Given the description of an element on the screen output the (x, y) to click on. 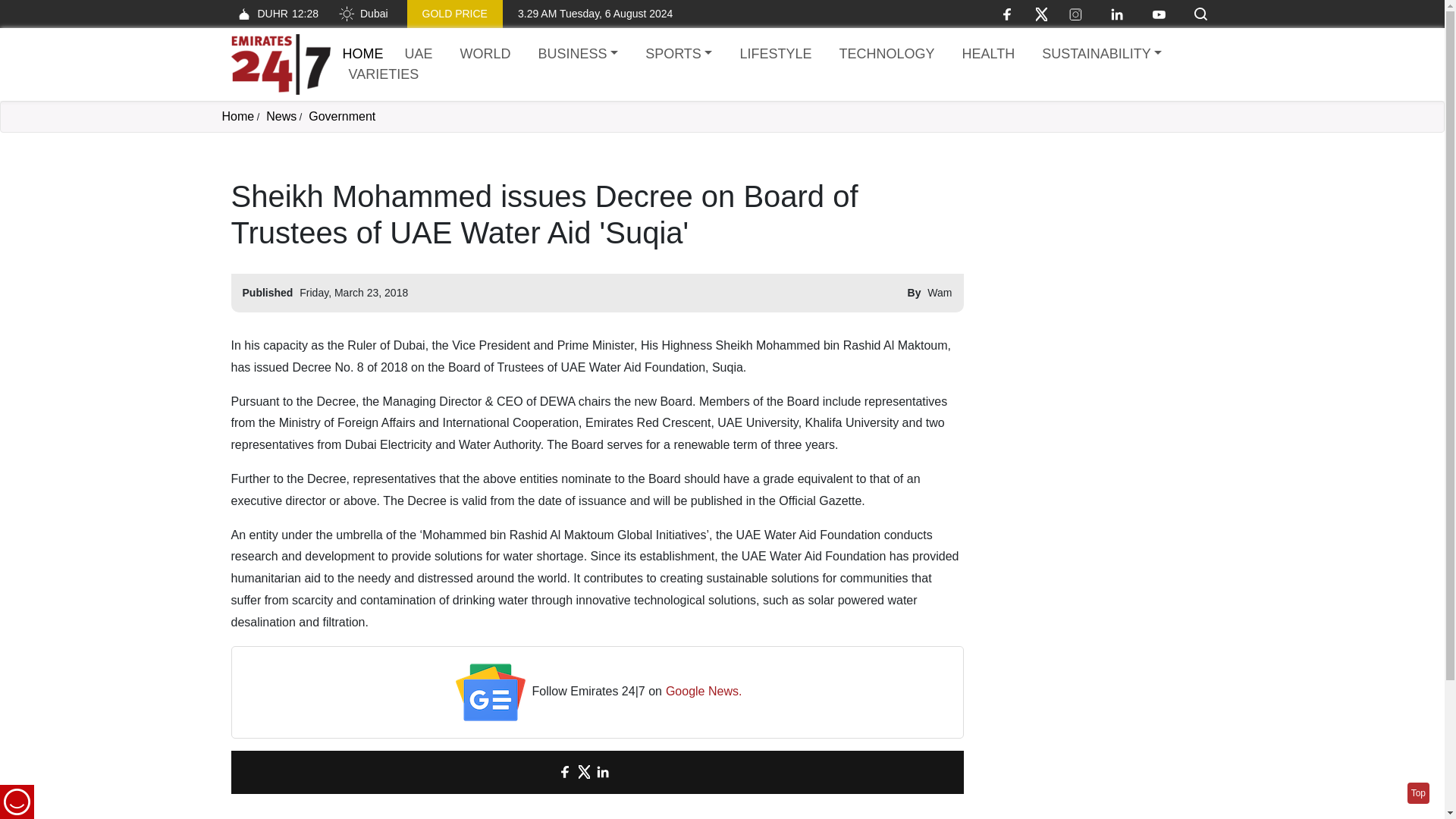
Google News. (703, 691)
LIFESTYLE (774, 54)
SPORTS (678, 54)
WORLD (485, 54)
BUSINESS (578, 54)
SUSTAINABILITY (1101, 54)
GOLD PRICE (454, 13)
Go to top (1418, 792)
UAE (418, 54)
TECHNOLOGY (886, 54)
HEALTH (987, 54)
Home (237, 115)
Government (341, 115)
News (281, 115)
Dubai (362, 13)
